Given the description of an element on the screen output the (x, y) to click on. 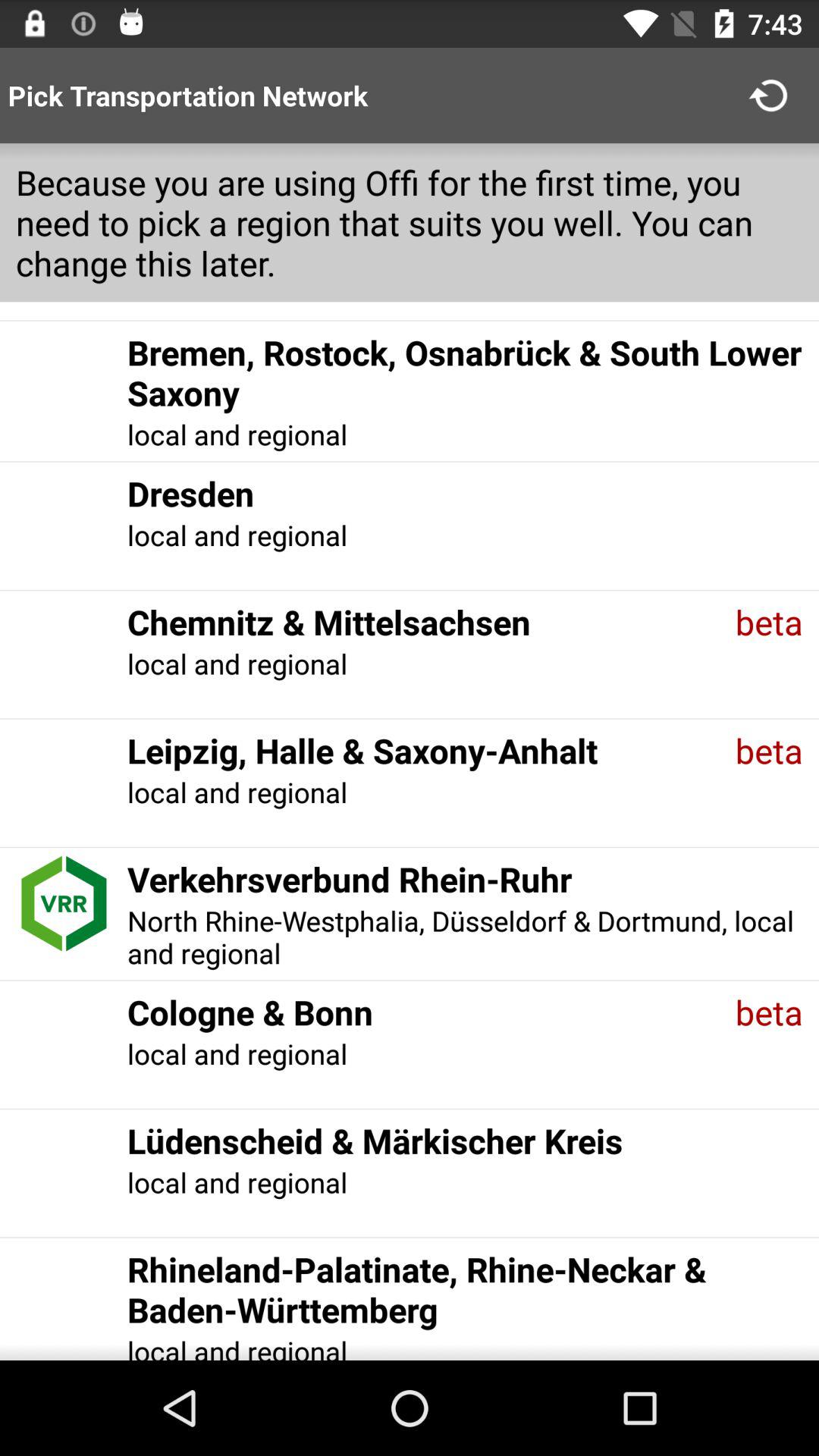
turn on the app above because you are item (771, 95)
